Given the description of an element on the screen output the (x, y) to click on. 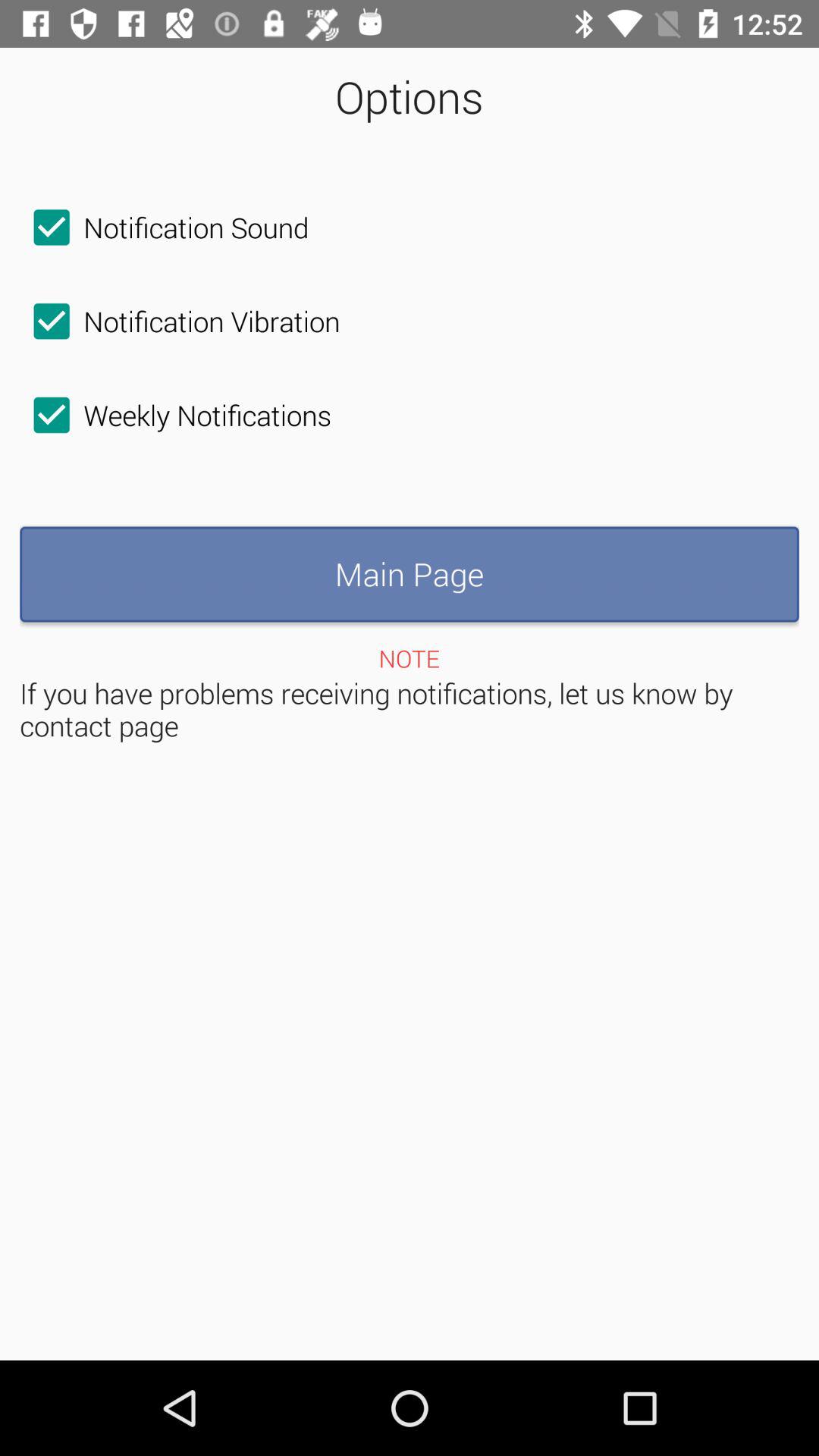
open icon above the notification vibration (163, 227)
